Given the description of an element on the screen output the (x, y) to click on. 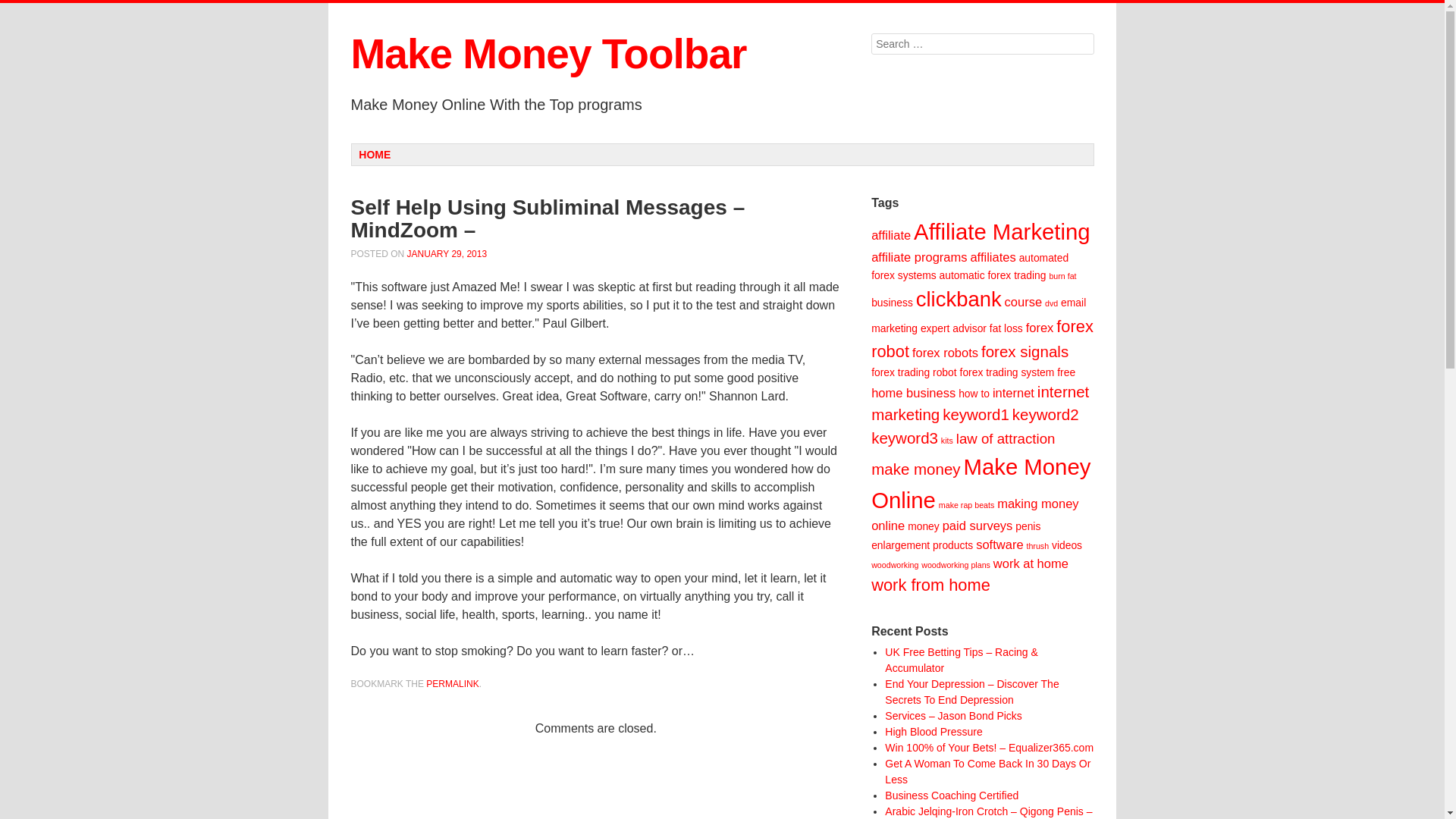
home business (912, 392)
expert advisor (953, 328)
Make Money Toolbar (547, 53)
email marketing (978, 315)
burn fat (1061, 275)
free (1066, 372)
forex trading robot (913, 372)
kits (946, 440)
forex signals (1024, 351)
forex (1040, 327)
